Given the description of an element on the screen output the (x, y) to click on. 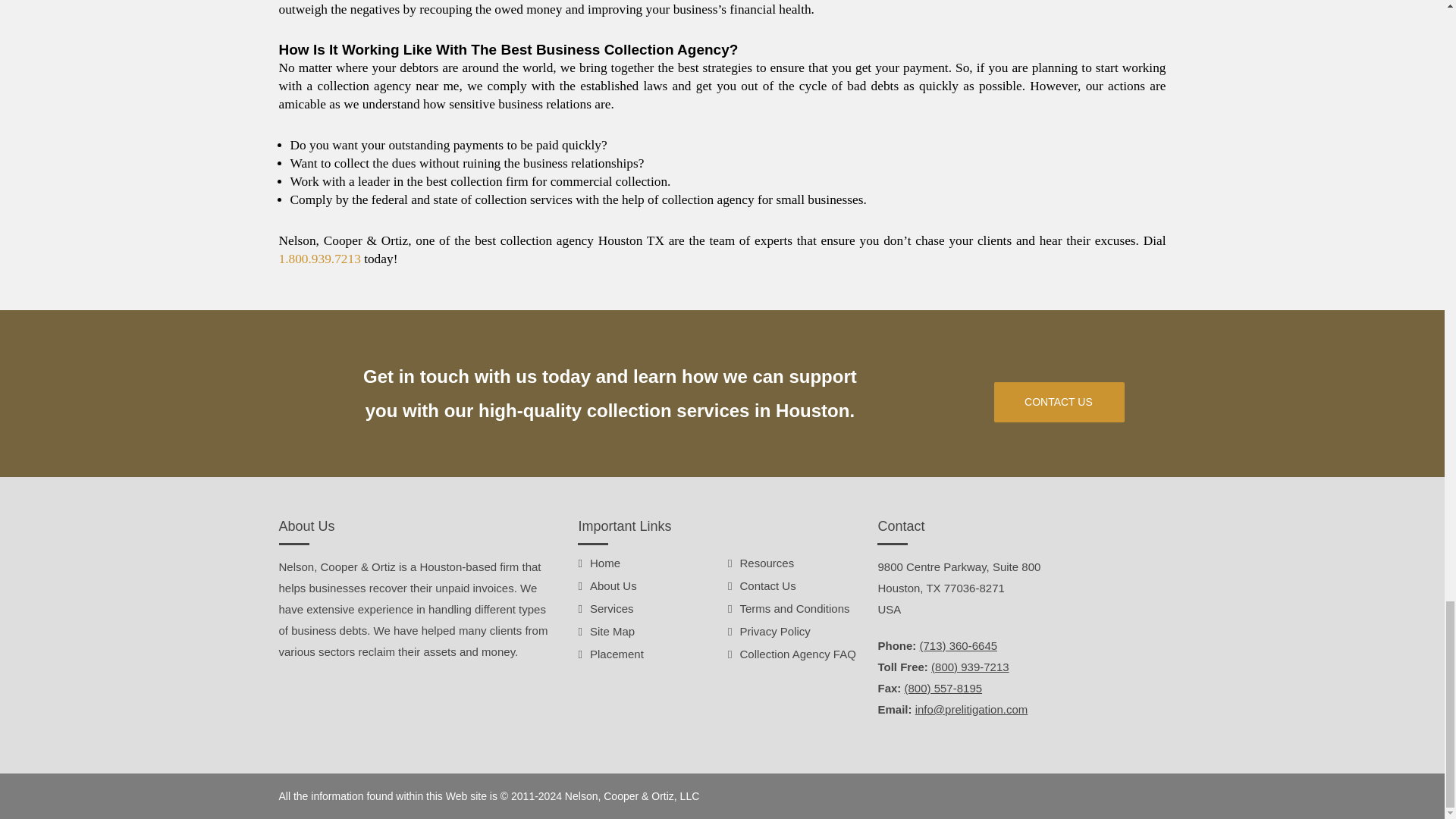
Resources (766, 562)
Services (611, 608)
Site Map (611, 631)
1.800.939.7213 (320, 258)
CONTACT US (1059, 402)
Home (604, 562)
Placement (616, 653)
About Us (613, 585)
